Given the description of an element on the screen output the (x, y) to click on. 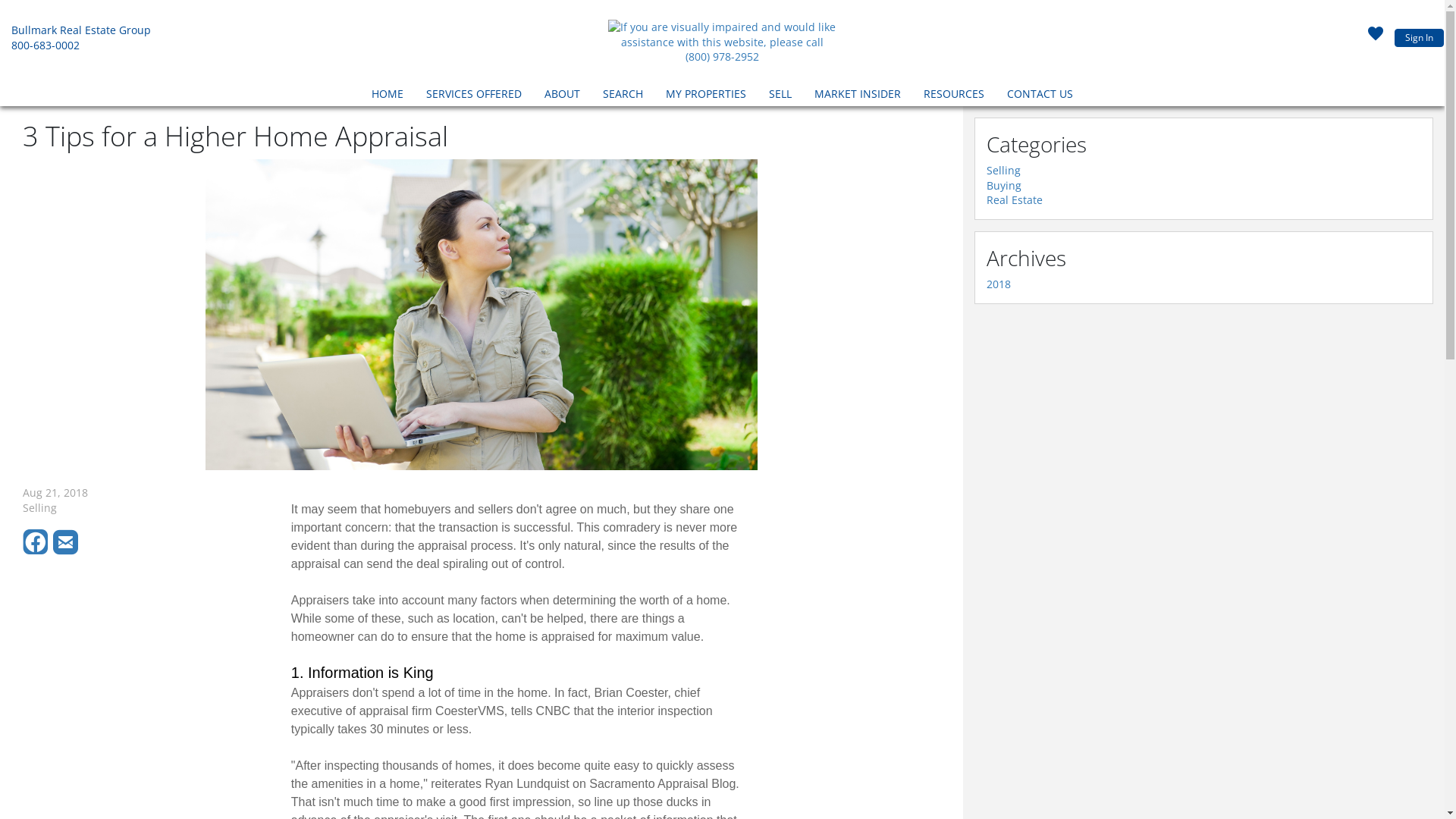
SERVICES OFFERED Element type: text (473, 95)
Selling Element type: text (1003, 170)
Click here to sign in Element type: hover (1375, 37)
ABOUT Element type: text (561, 95)
SELL Element type: text (780, 95)
800-683-0002 Element type: text (45, 44)
Real Estate Element type: text (1014, 199)
MY PROPERTIES Element type: text (705, 95)
SEARCH Element type: text (622, 95)
Buying Element type: text (1003, 185)
CONTACT US Element type: text (1039, 95)
RESOURCES Element type: text (953, 95)
2018 Element type: text (998, 283)
MARKET INSIDER Element type: text (857, 95)
HOME Element type: text (387, 95)
Sign In Element type: text (1418, 37)
